Given the description of an element on the screen output the (x, y) to click on. 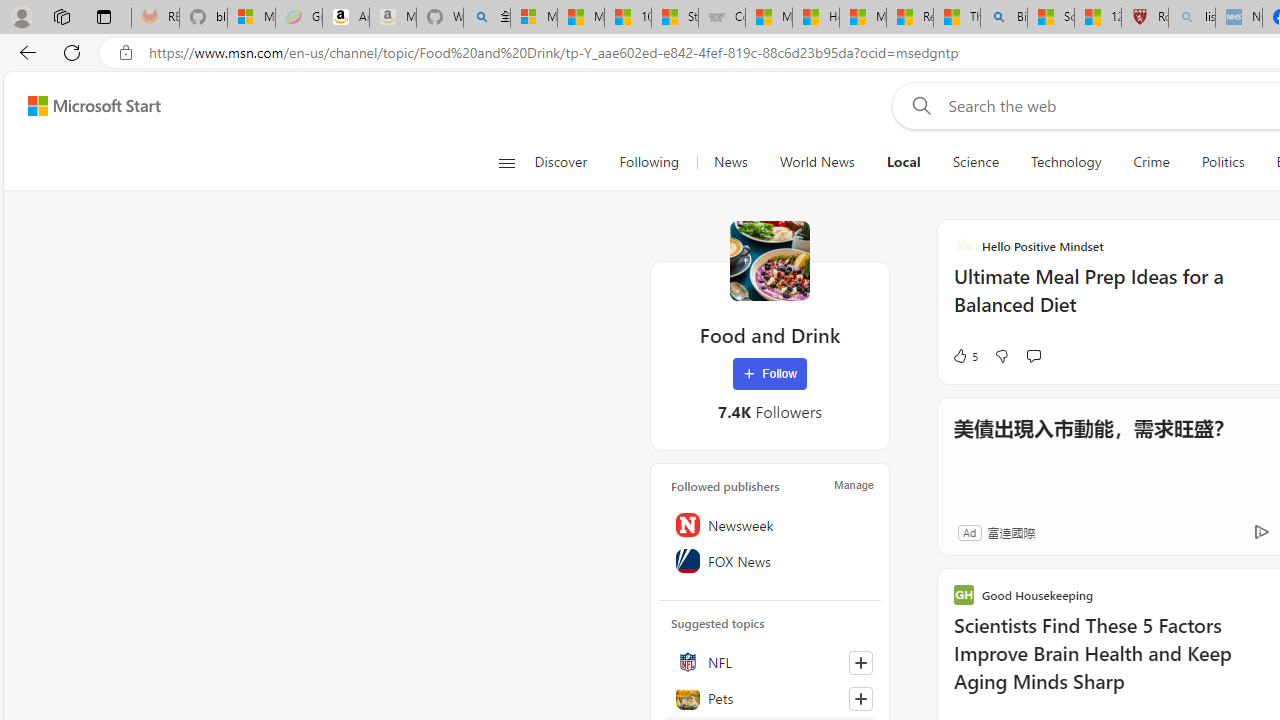
Newsweek (770, 525)
Pets (770, 697)
Local (903, 162)
Start the conversation (1033, 355)
FOX News (770, 561)
5 Like (964, 355)
Ultimate Meal Prep Ideas for a Balanced Diet (1115, 300)
